Given the description of an element on the screen output the (x, y) to click on. 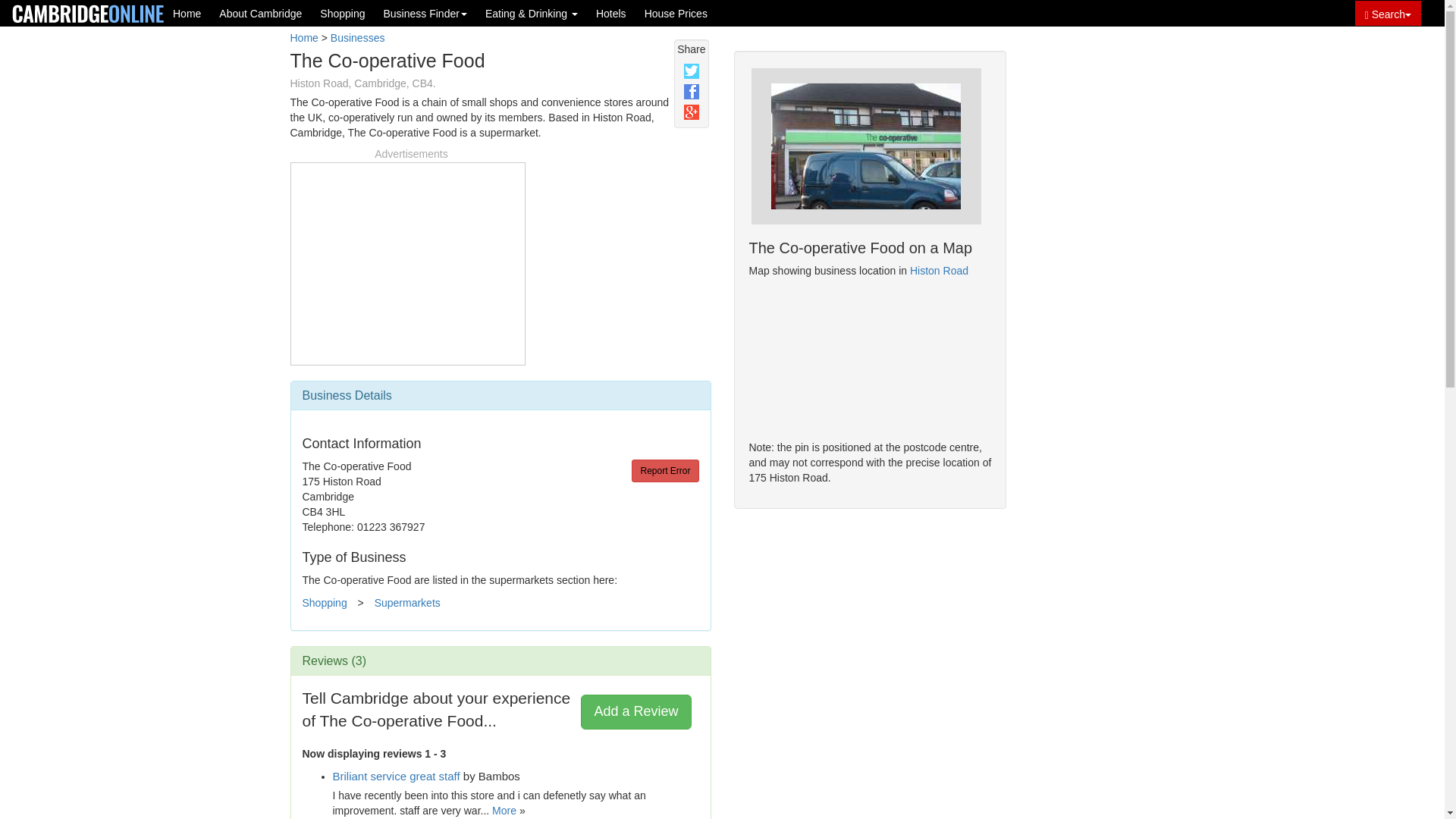
Report Error (664, 470)
Advertisement (407, 261)
Hotels (610, 12)
Supermarkets (407, 603)
Shopping (342, 12)
Add a Review (635, 711)
Home (186, 12)
Business Finder (425, 12)
Home (303, 37)
Briliant service great staff (395, 775)
Businesses (357, 37)
Shopping (323, 603)
About Cambridge (260, 12)
House Prices (675, 12)
Search (1388, 12)
